Given the description of an element on the screen output the (x, y) to click on. 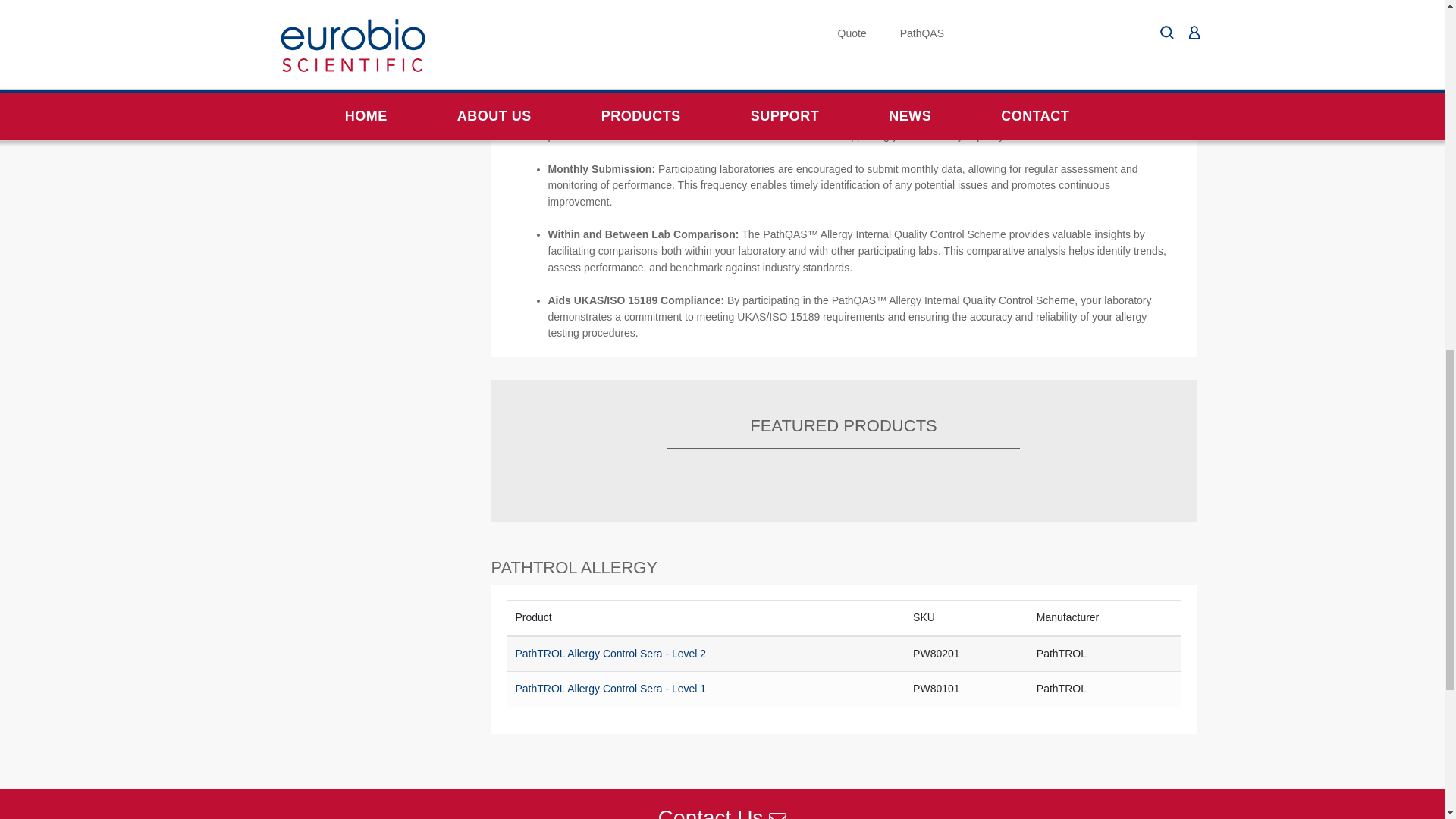
Contact Us (722, 812)
PathTROL Allergy Control Sera - Level 1 (610, 688)
PathTROL Allergy Control Sera - Level 2 (610, 653)
